Given the description of an element on the screen output the (x, y) to click on. 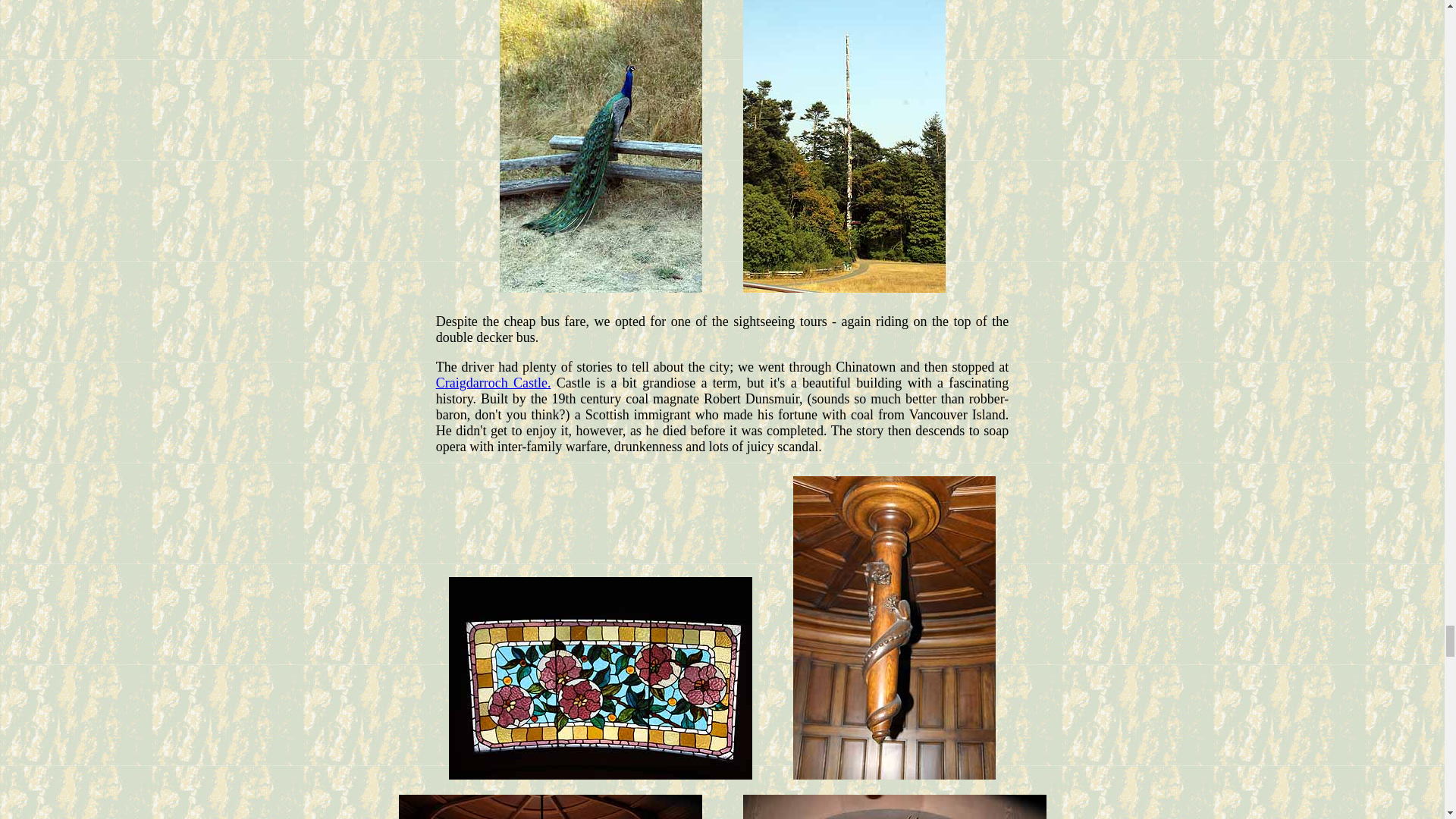
Craigdarroch Castle. (493, 382)
